Given the description of an element on the screen output the (x, y) to click on. 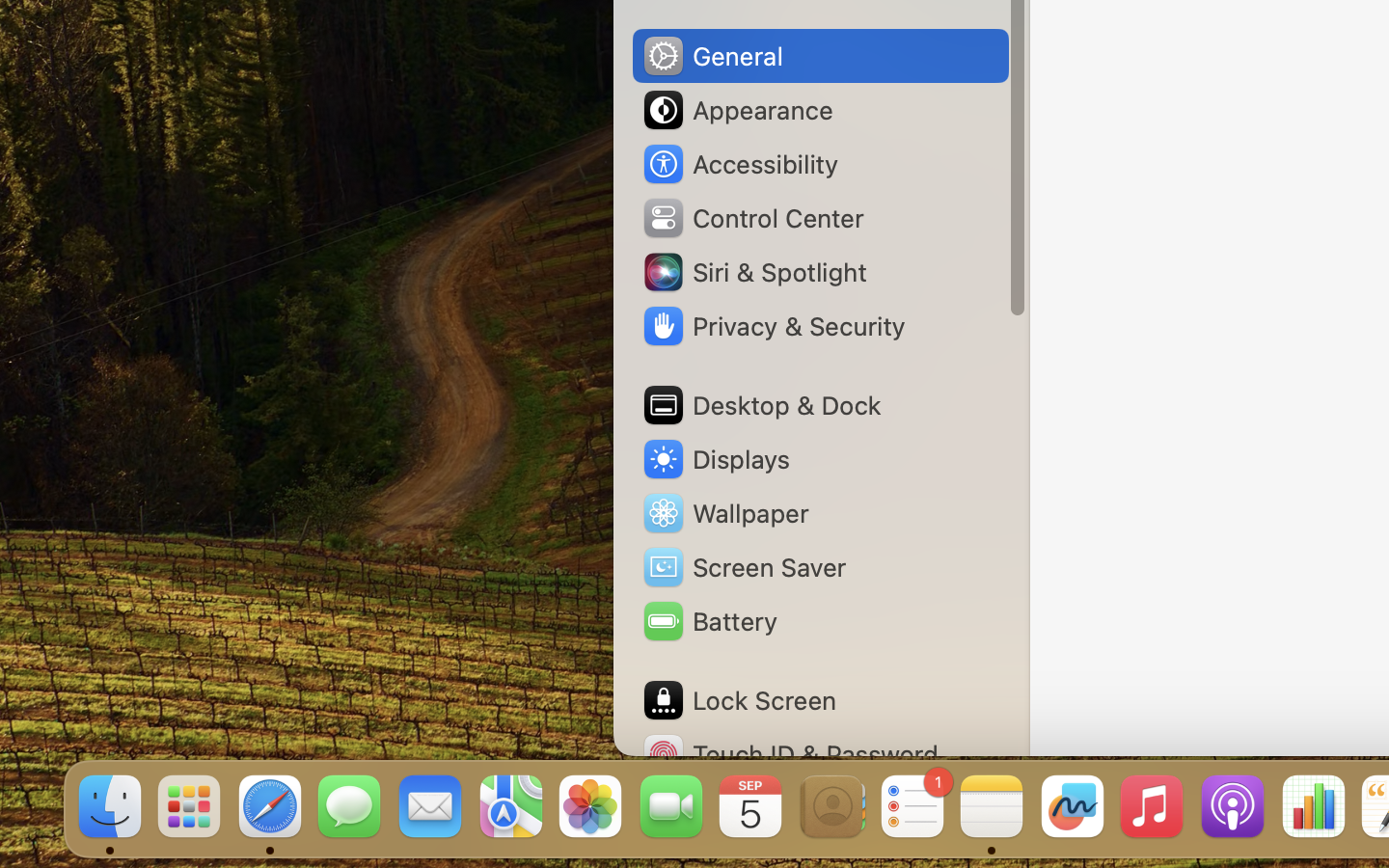
Appearance Element type: AXStaticText (736, 109)
Battery Element type: AXStaticText (708, 620)
Lock Screen Element type: AXStaticText (738, 700)
Control Center Element type: AXStaticText (752, 217)
Desktop & Dock Element type: AXStaticText (760, 404)
